Given the description of an element on the screen output the (x, y) to click on. 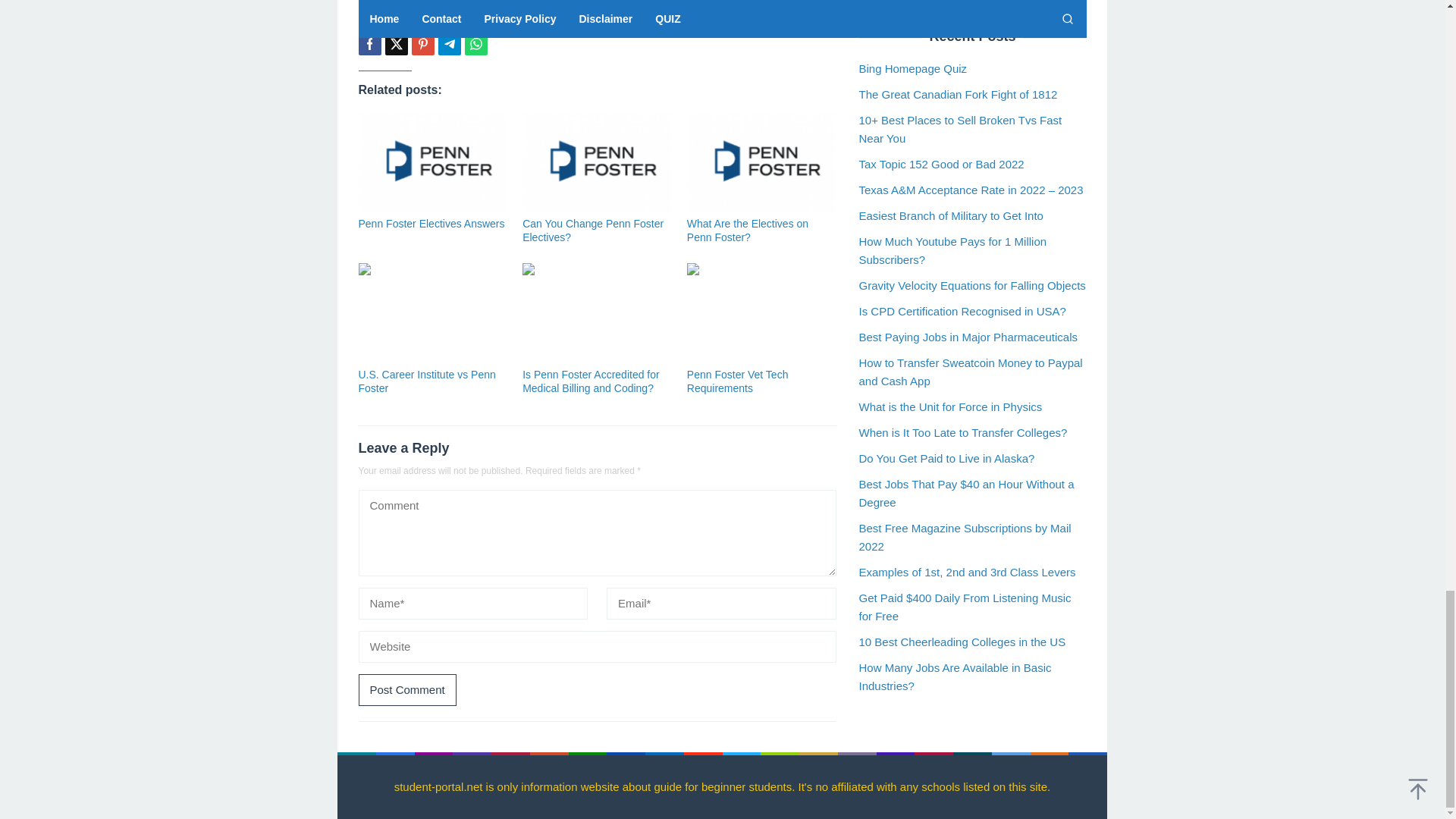
Is Penn Foster Accredited for Medical Billing and Coding? (590, 380)
Pin this (421, 43)
Share this (369, 43)
Permalink to: Penn Foster Electives Answers (430, 223)
Penn Foster Vet Tech Requirements (738, 380)
U.S. Career Institute vs Penn Foster (426, 380)
Can You Change Penn Foster Electives? (592, 230)
Penn Foster Electives Answers (430, 223)
Permalink to: Penn Foster Electives Answers (432, 162)
Permalink to: Can You Change Penn Foster Electives? (592, 230)
